Given the description of an element on the screen output the (x, y) to click on. 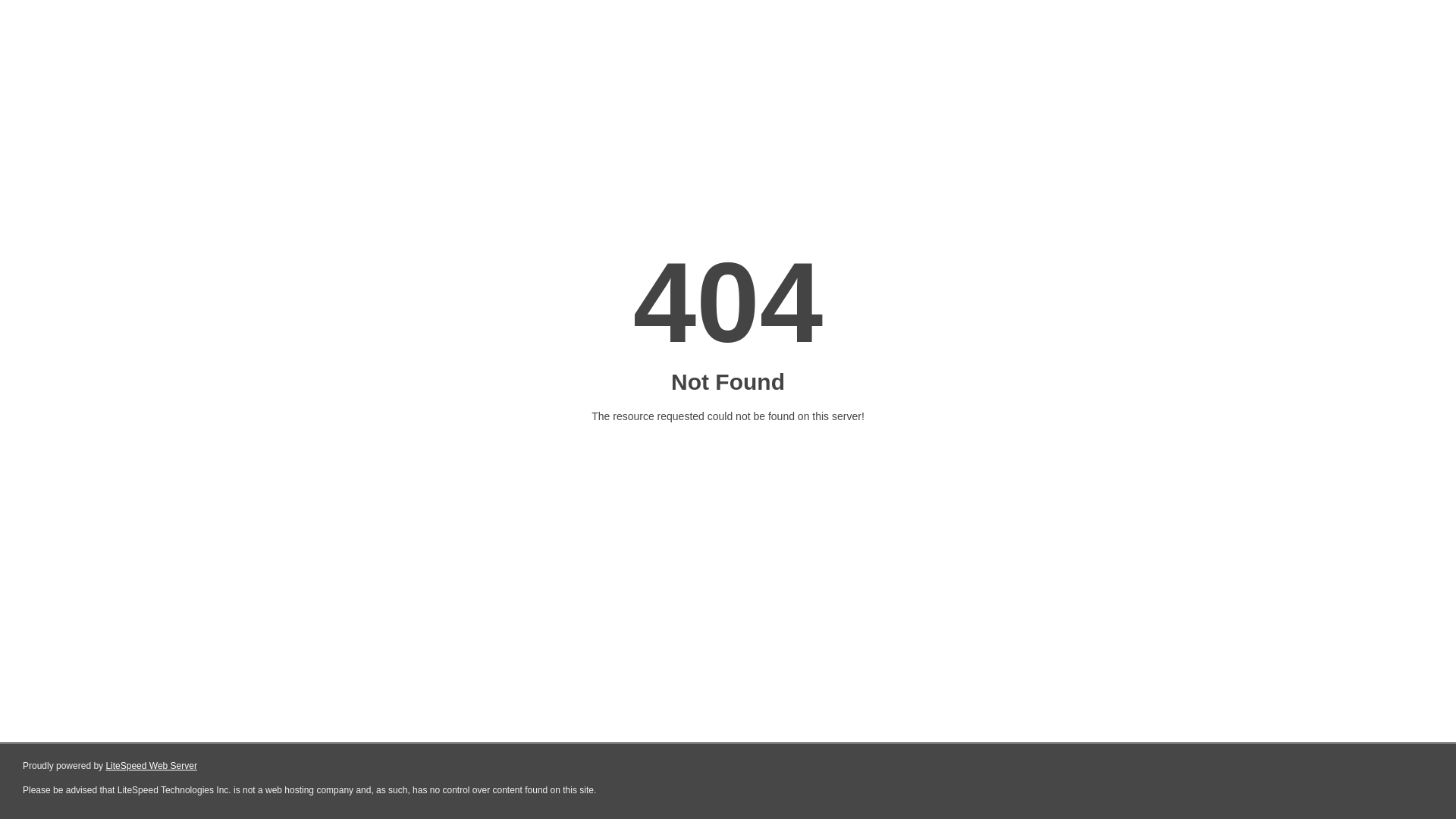
LiteSpeed Web Server Element type: text (151, 765)
